Given the description of an element on the screen output the (x, y) to click on. 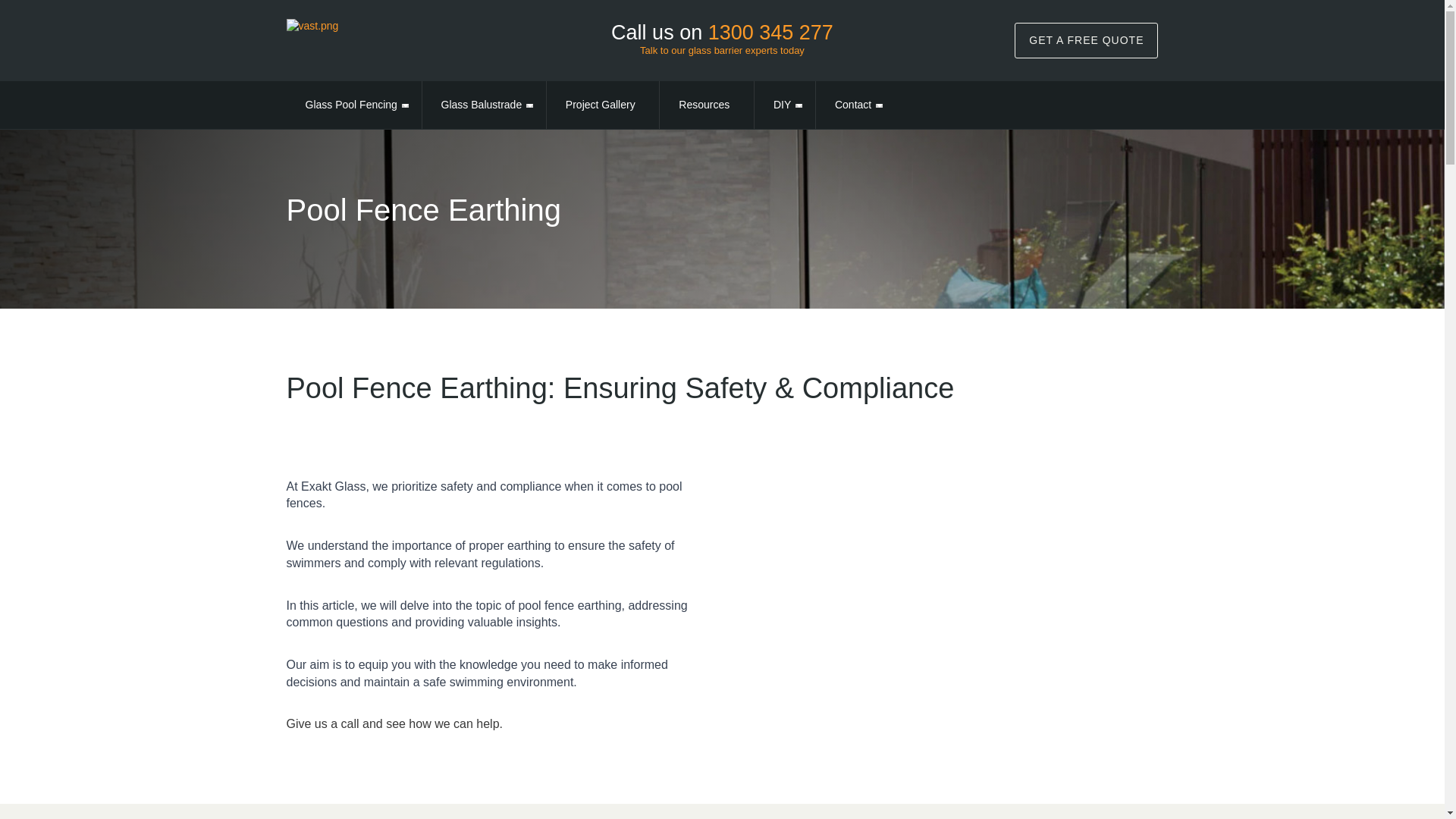
YouTube video player (945, 604)
Project Gallery (600, 104)
DIY (781, 104)
Resources (703, 104)
GET A FREE QUOTE (1085, 40)
Glass Balustrade (481, 104)
1300 345 277 (769, 32)
